Given the description of an element on the screen output the (x, y) to click on. 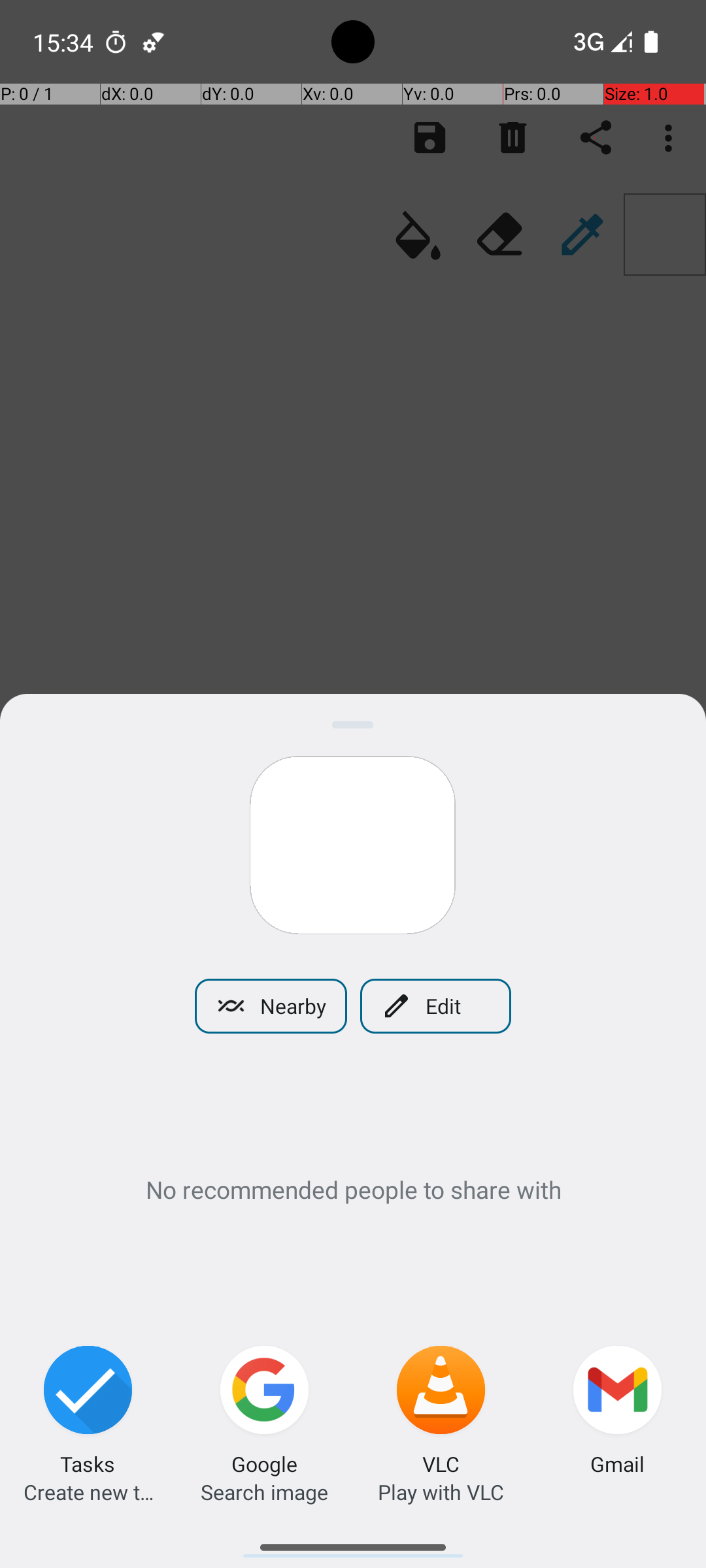
Search image Element type: android.widget.TextView (264, 1491)
